Given the description of an element on the screen output the (x, y) to click on. 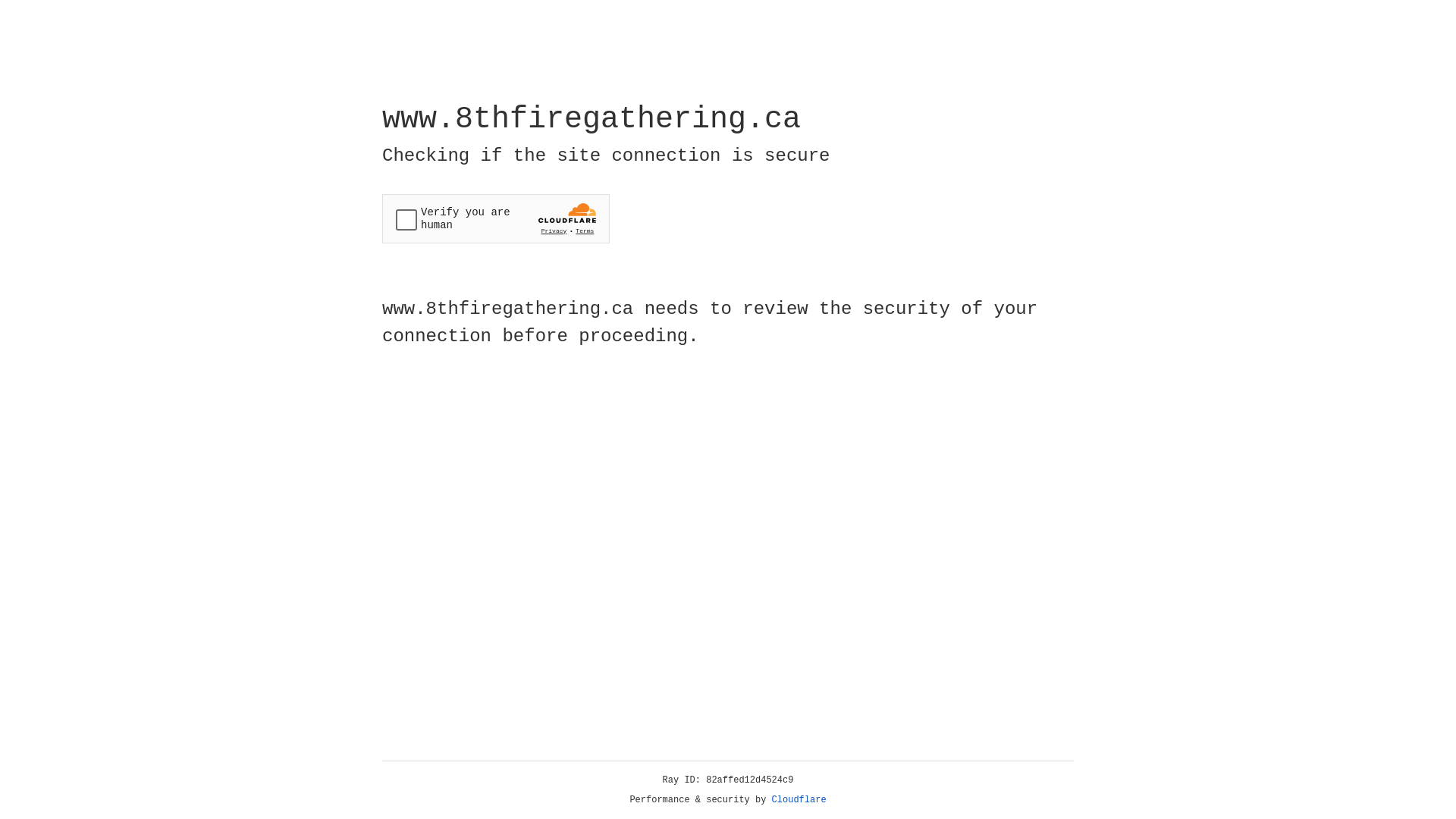
Widget containing a Cloudflare security challenge Element type: hover (495, 218)
Cloudflare Element type: text (798, 799)
